Given the description of an element on the screen output the (x, y) to click on. 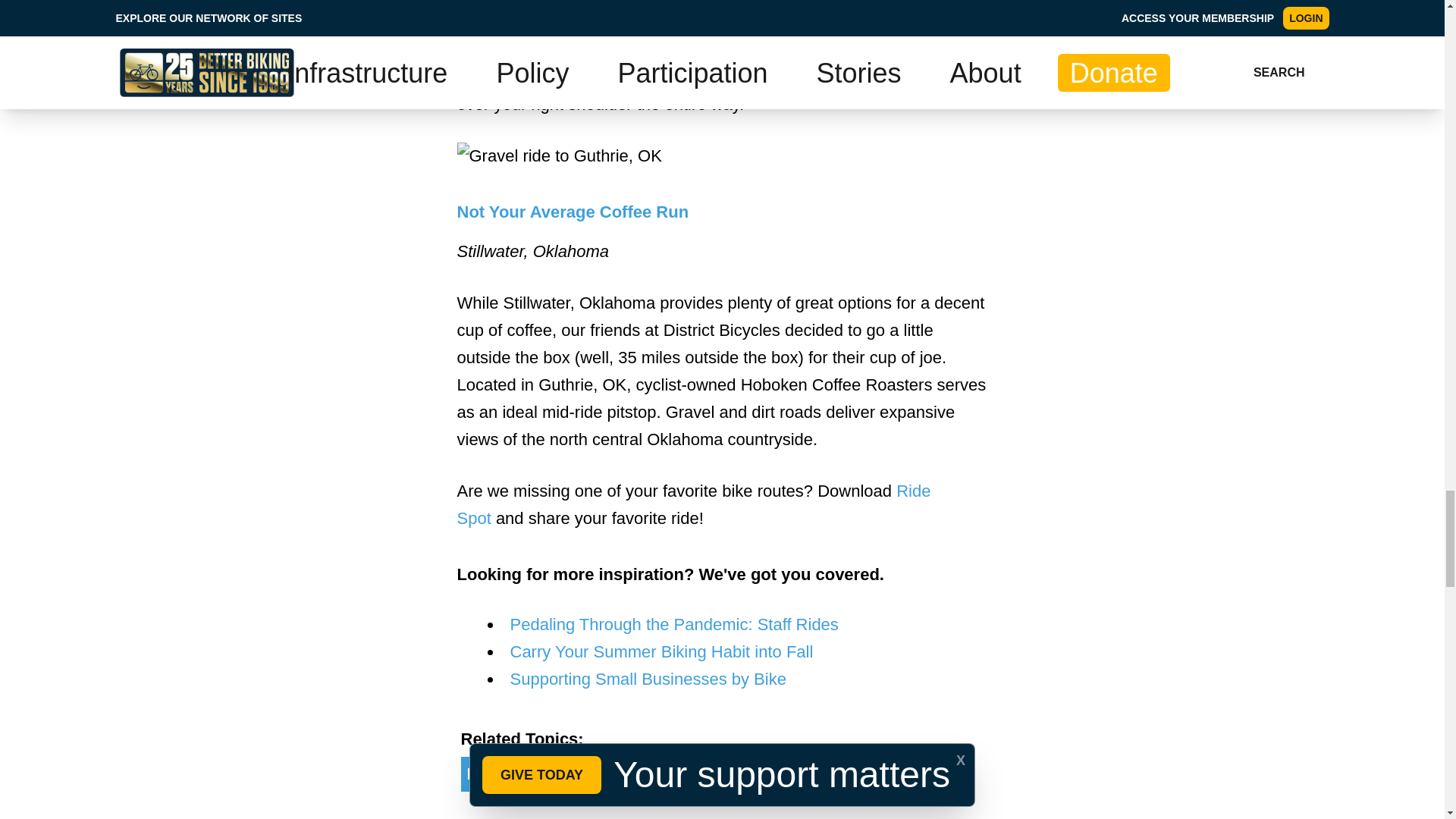
Bike Rides (839, 773)
Carry Your Summer Biking Habit into Fall (660, 651)
Ride Spot (693, 504)
Recreational Bike Access (568, 773)
Pedaling Through the Pandemic: Staff Rides (673, 624)
Not Your Average Coffee Run (572, 210)
City Riding (732, 773)
Supporting Small Businesses by Bike (647, 678)
